Given the description of an element on the screen output the (x, y) to click on. 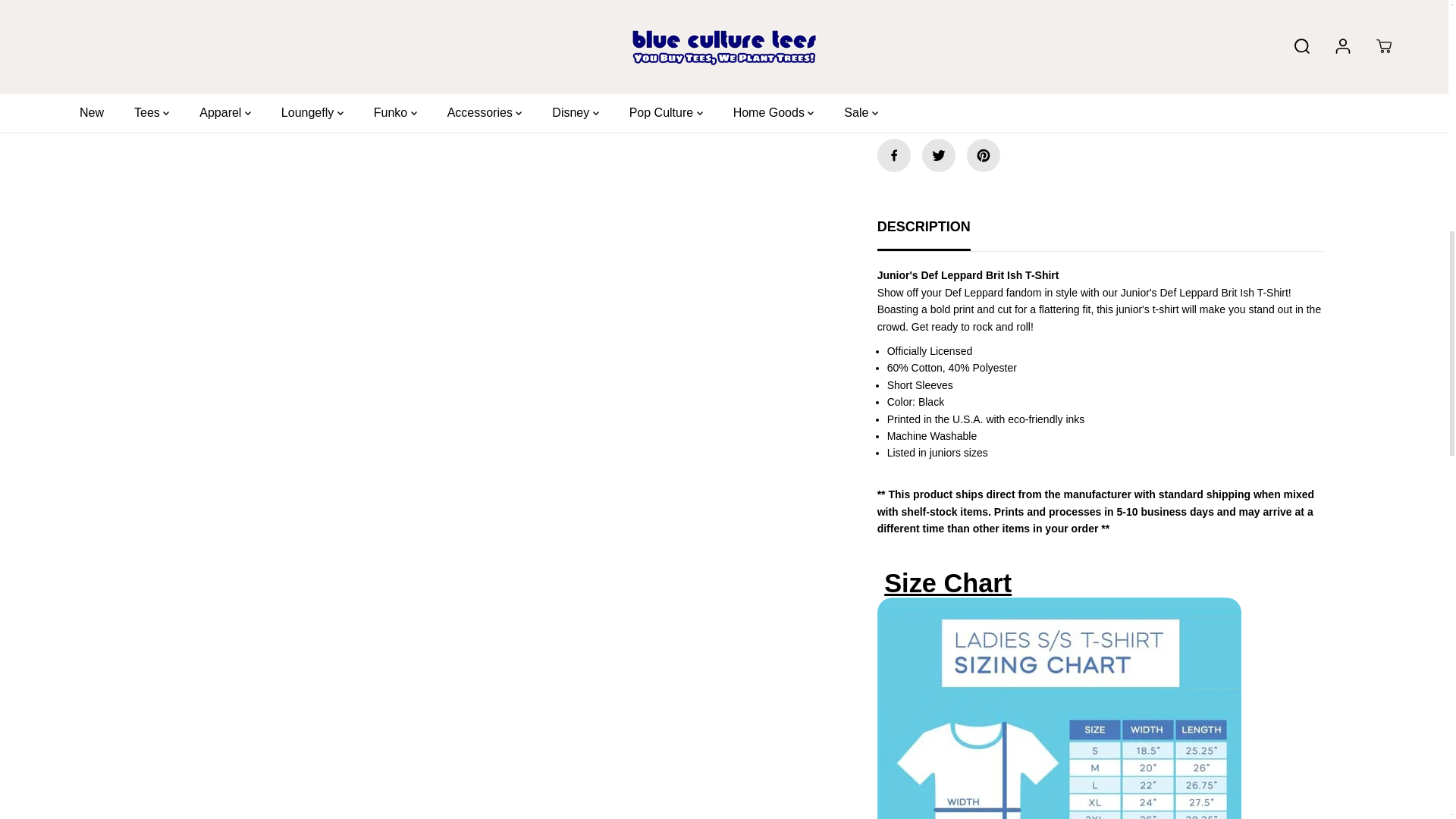
Twitter (938, 154)
Pinterest (983, 154)
Facebook (894, 154)
